Given the description of an element on the screen output the (x, y) to click on. 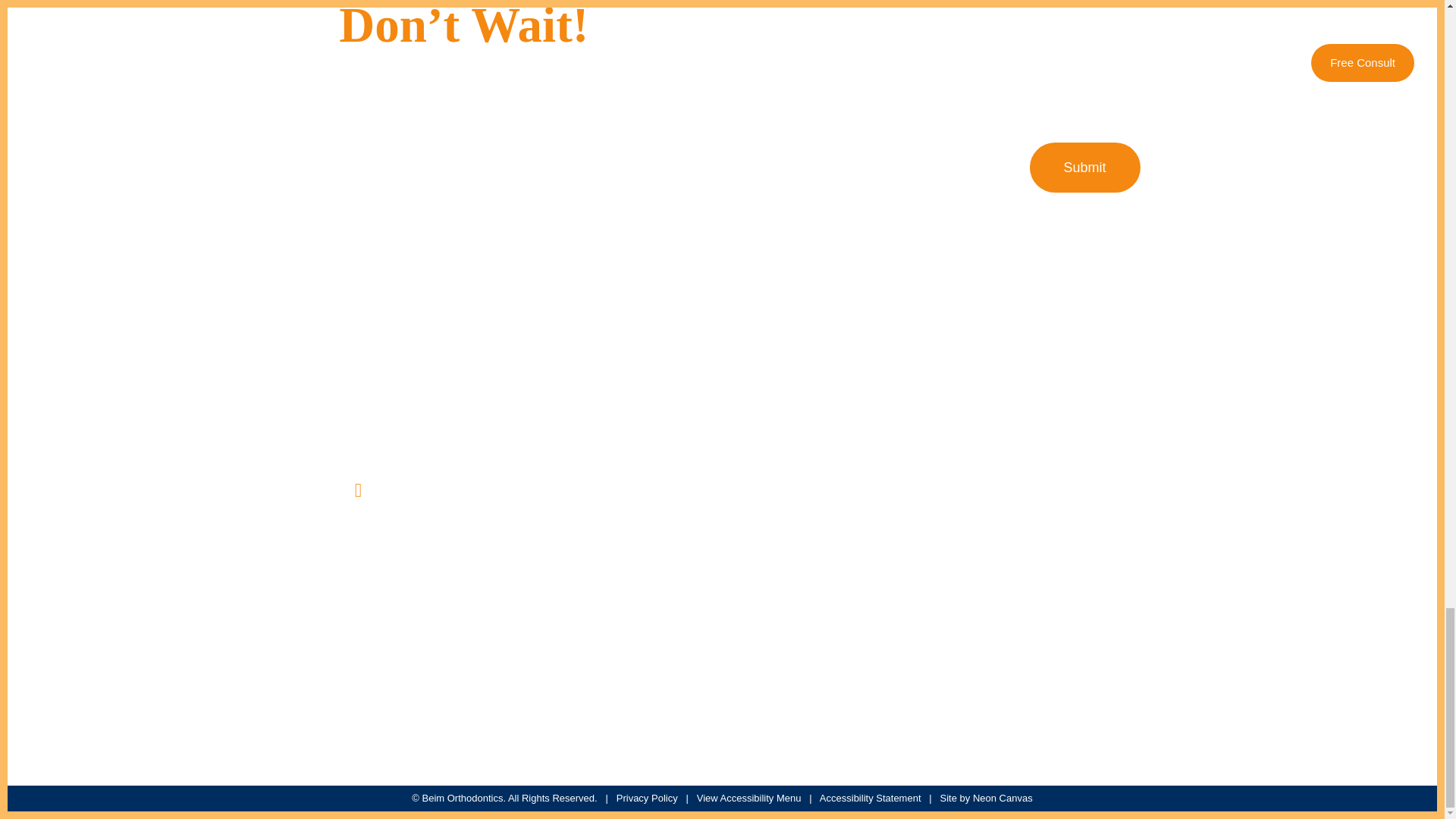
Submit (1084, 167)
